Given the description of an element on the screen output the (x, y) to click on. 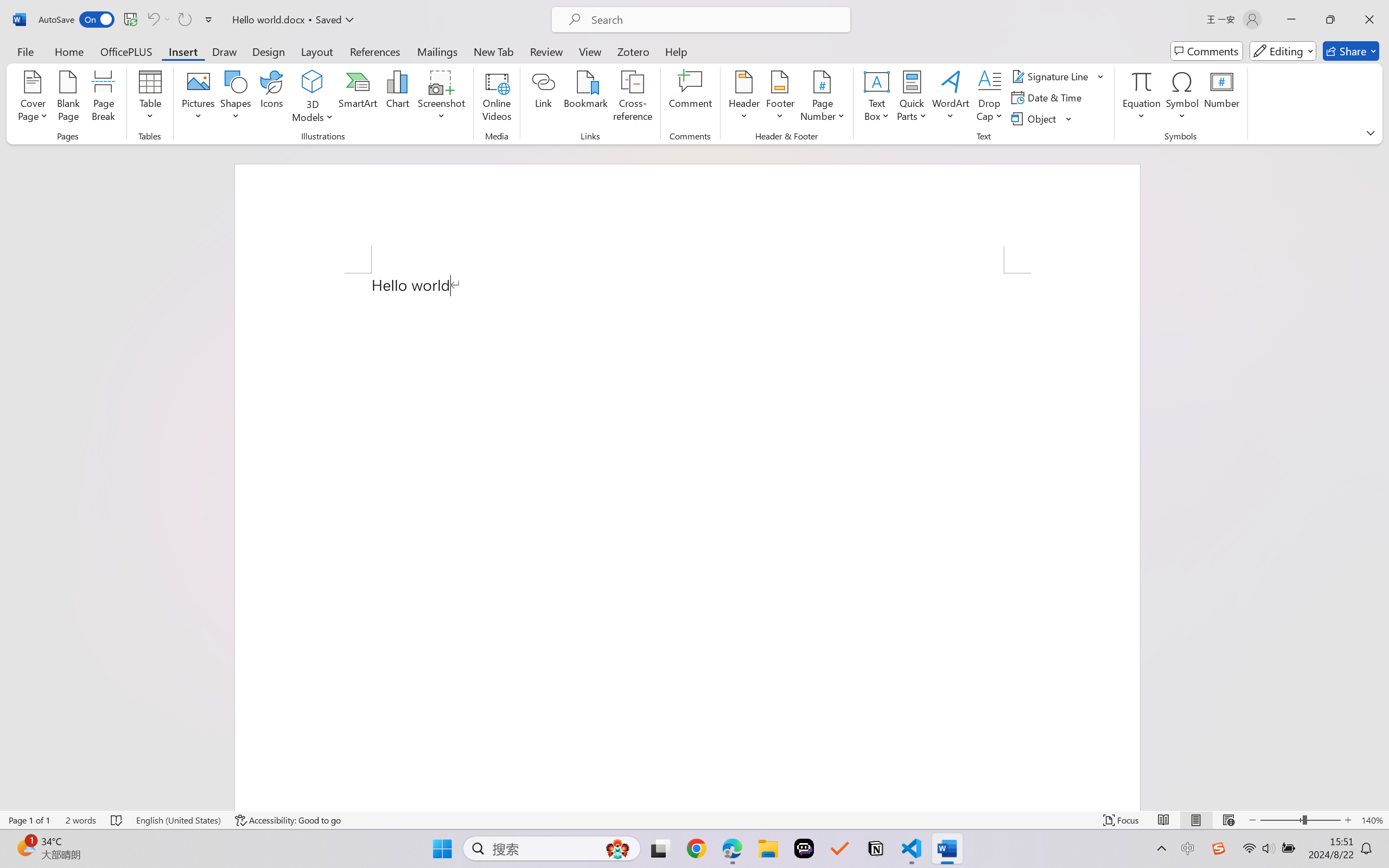
Chart... (396, 97)
Class: MsoCommandBar (694, 819)
OfficePLUS (126, 51)
Table (149, 97)
Footer (780, 97)
Equation (1141, 81)
Pictures (198, 97)
Customize Quick Access Toolbar (208, 19)
Layout (316, 51)
Drop Cap (989, 97)
Can't Repeat (184, 19)
Insert (182, 51)
Review (546, 51)
Close (1369, 19)
Online Videos... (496, 97)
